Given the description of an element on the screen output the (x, y) to click on. 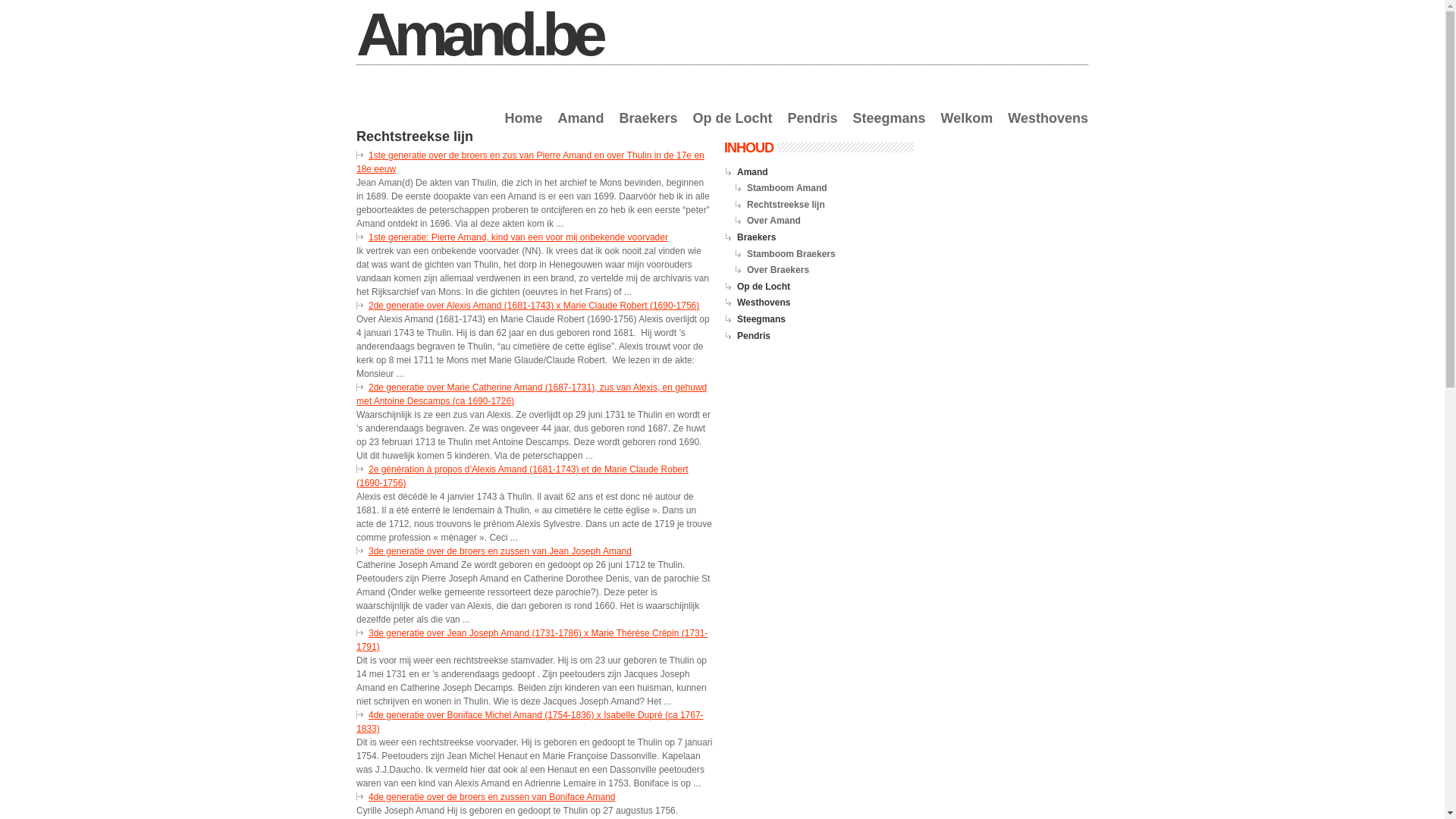
Over Braekers Element type: text (777, 269)
Op de Locht Element type: text (763, 286)
Steegmans Element type: text (889, 126)
Op de Locht Element type: text (732, 126)
Westhovens Element type: text (1047, 126)
Welkom Element type: text (967, 126)
Rechtstreekse lijn Element type: text (414, 136)
Over Amand Element type: text (773, 220)
Stamboom Braekers Element type: text (790, 253)
Braekers Element type: text (756, 237)
Westhovens Element type: text (763, 302)
Amand.be Element type: text (478, 34)
Amand Element type: text (580, 126)
Home Element type: text (523, 126)
Pendris Element type: text (753, 335)
3de generatie over de broers en zussen van Jean Joseph Amand Element type: text (499, 551)
Amand Element type: text (752, 171)
Steegmans Element type: text (761, 318)
4de generatie over de broers en zussen van Boniface Amand Element type: text (491, 796)
Braekers Element type: text (647, 126)
Rechtstreekse lijn Element type: text (785, 204)
Stamboom Amand Element type: text (786, 187)
Pendris Element type: text (812, 126)
